Given the description of an element on the screen output the (x, y) to click on. 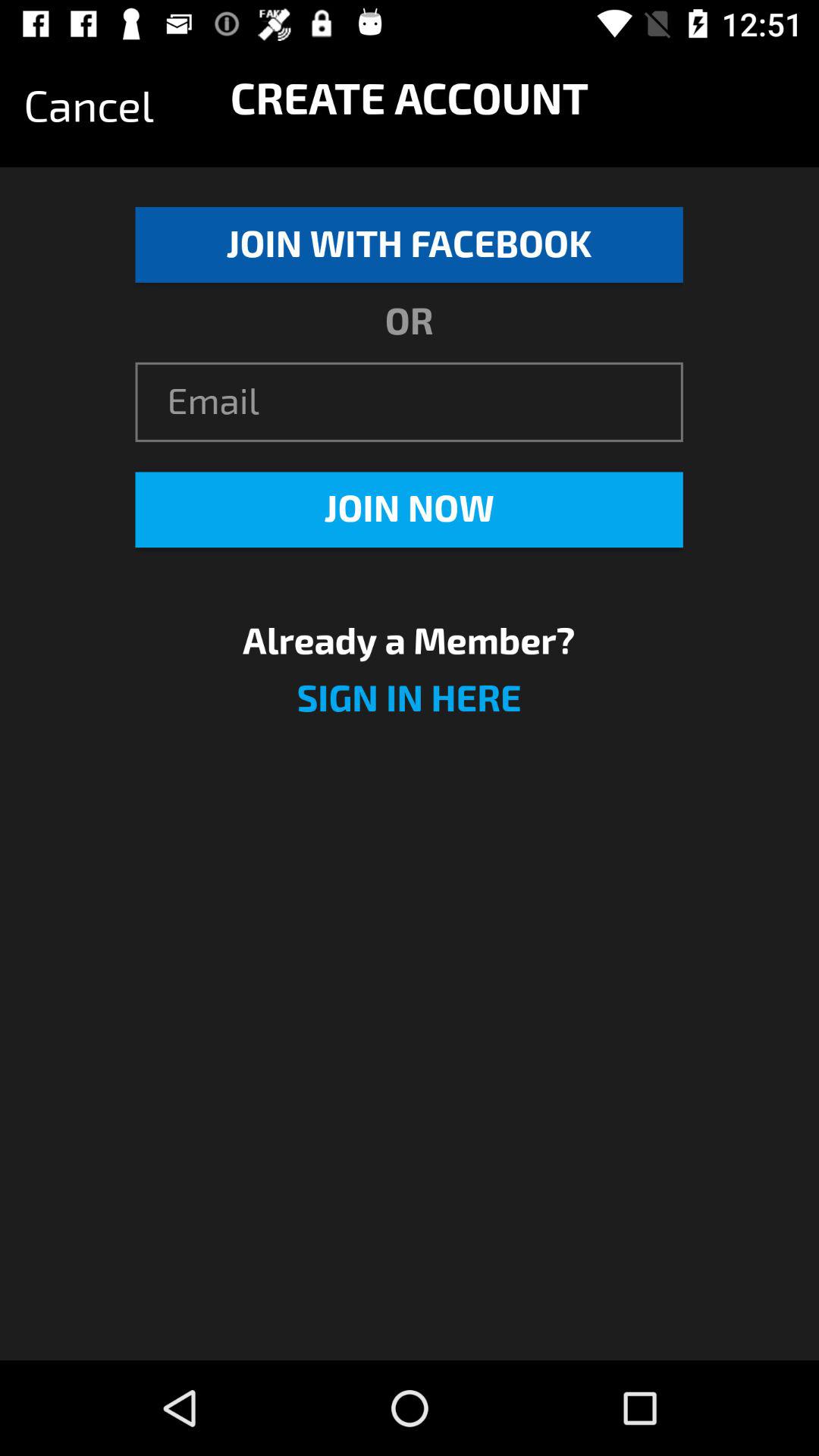
choose the item below the already a member? (408, 708)
